Given the description of an element on the screen output the (x, y) to click on. 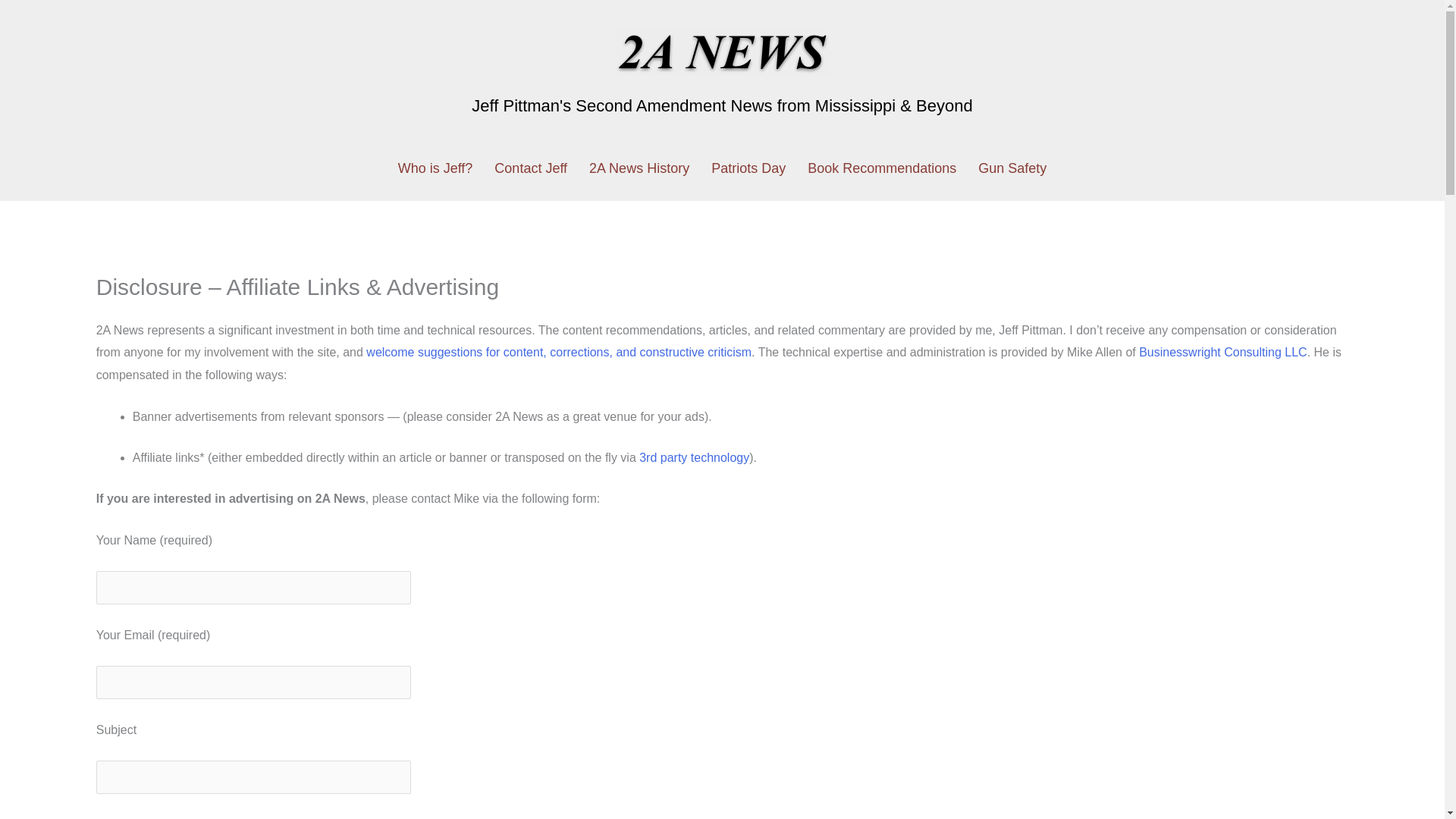
Businesswright Consulting LLC (1222, 351)
2Anews (721, 53)
Book Recommendations (881, 167)
Contact Jeff (558, 351)
3rd party technology (694, 457)
2A News History (639, 167)
Who is Jeff? (435, 167)
Gun Safety (1012, 167)
Contact Jeff (530, 167)
Patriots Day (748, 167)
